Given the description of an element on the screen output the (x, y) to click on. 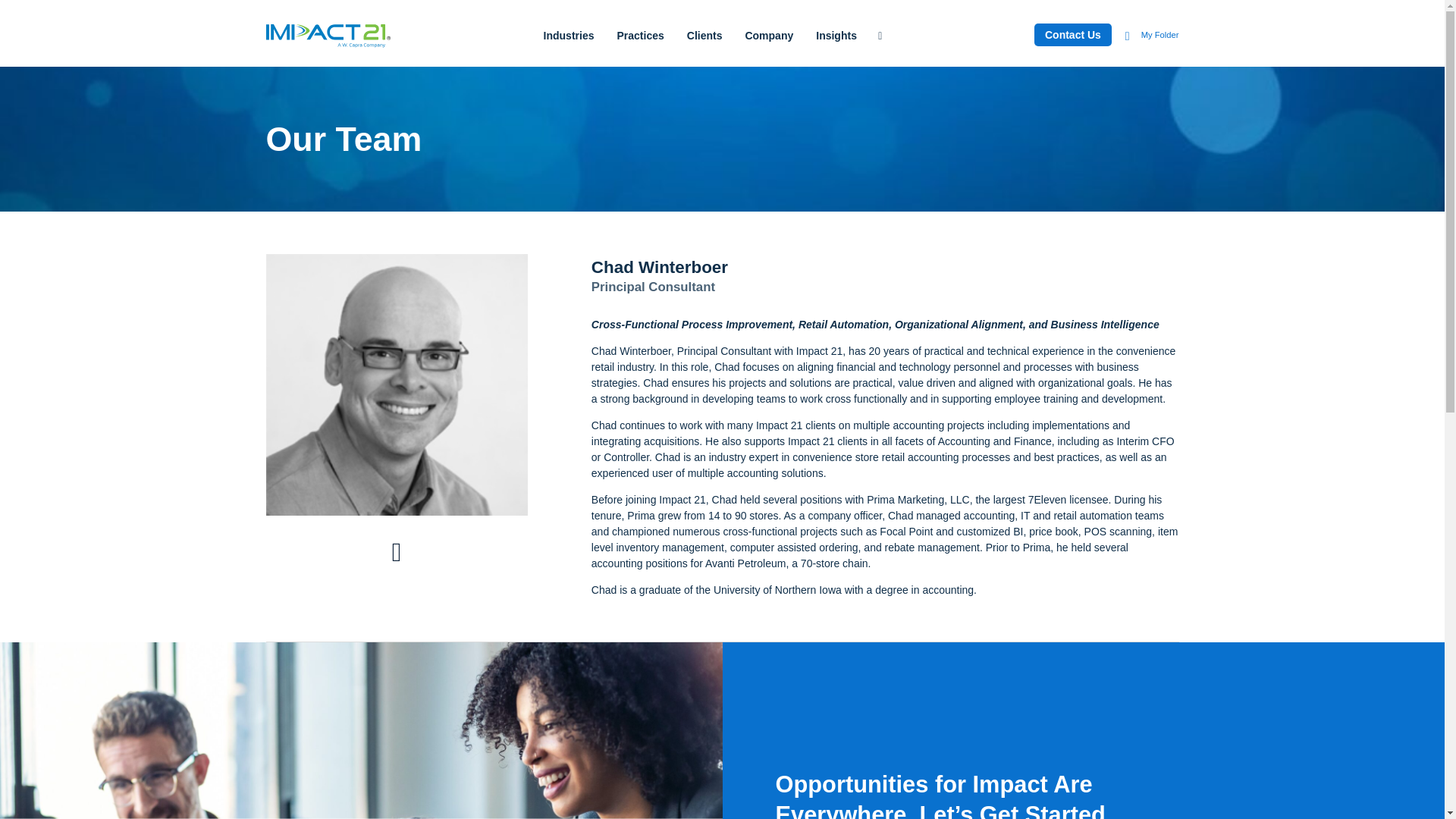
Contact Us (1072, 34)
My Folder (1152, 34)
Practices (639, 35)
LinkedIn link (396, 552)
Industries (568, 35)
Toggle search box (880, 35)
Clients (704, 35)
Insights (836, 35)
Company (768, 35)
